Given the description of an element on the screen output the (x, y) to click on. 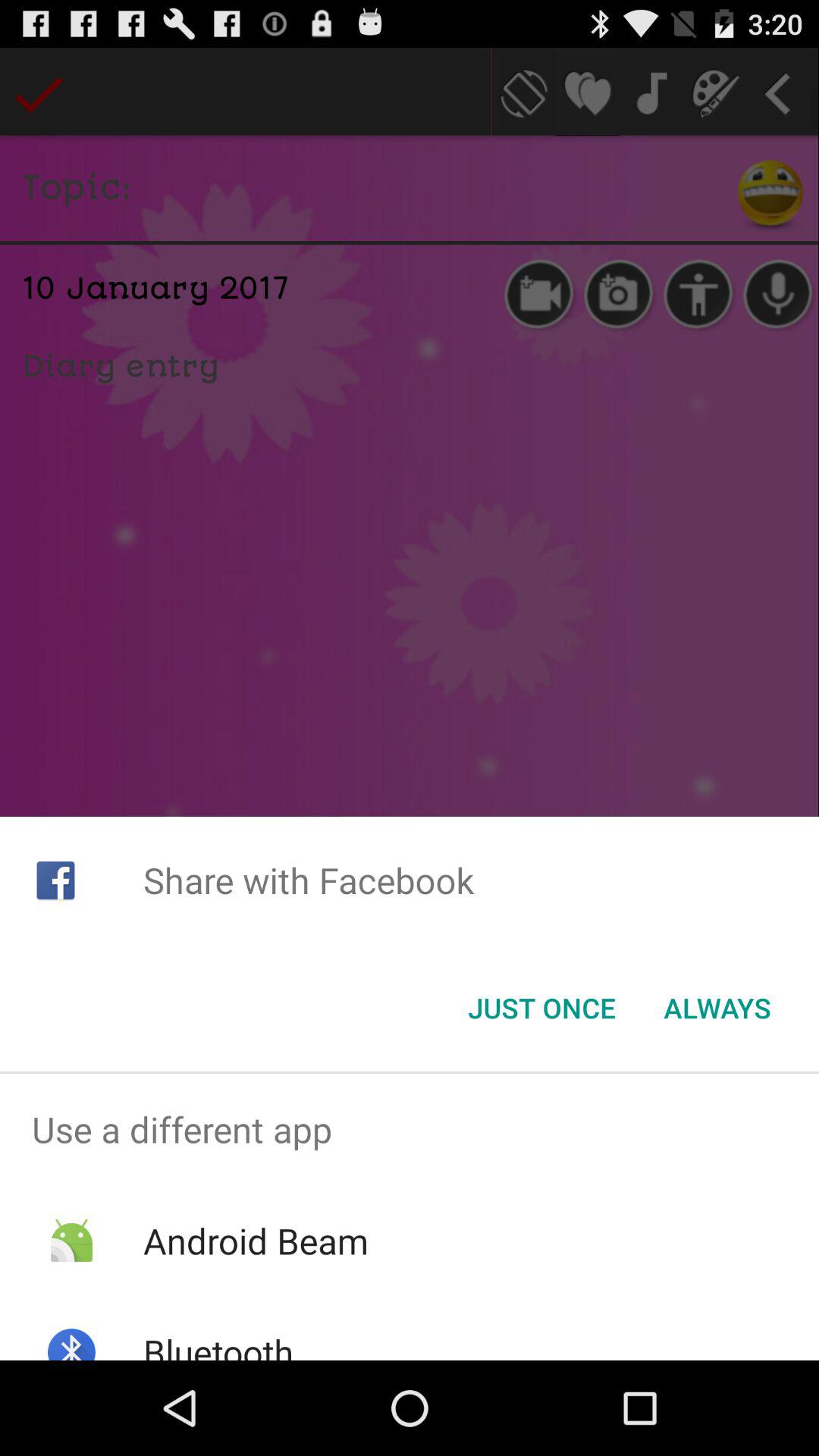
swipe until android beam (255, 1240)
